Given the description of an element on the screen output the (x, y) to click on. 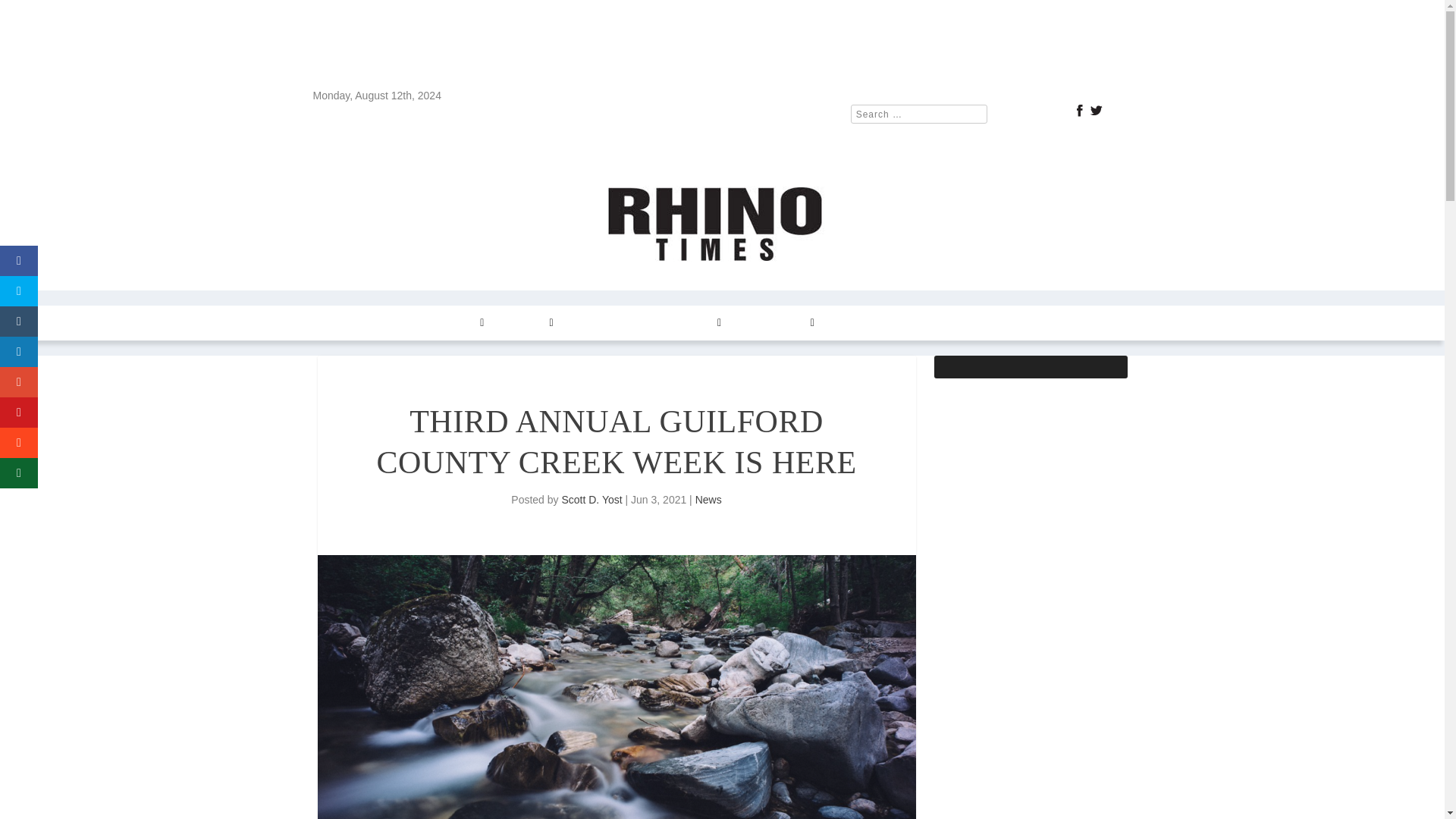
HOME (342, 322)
Scott D. Yost (590, 499)
ABOUT US (858, 322)
ARCHIVES (689, 322)
COLUMNS (453, 322)
Posts by Scott D. Yost (590, 499)
OPINION (526, 322)
Search (31, 13)
REAL ESTATE (606, 322)
OBITUARIES (935, 322)
